Given the description of an element on the screen output the (x, y) to click on. 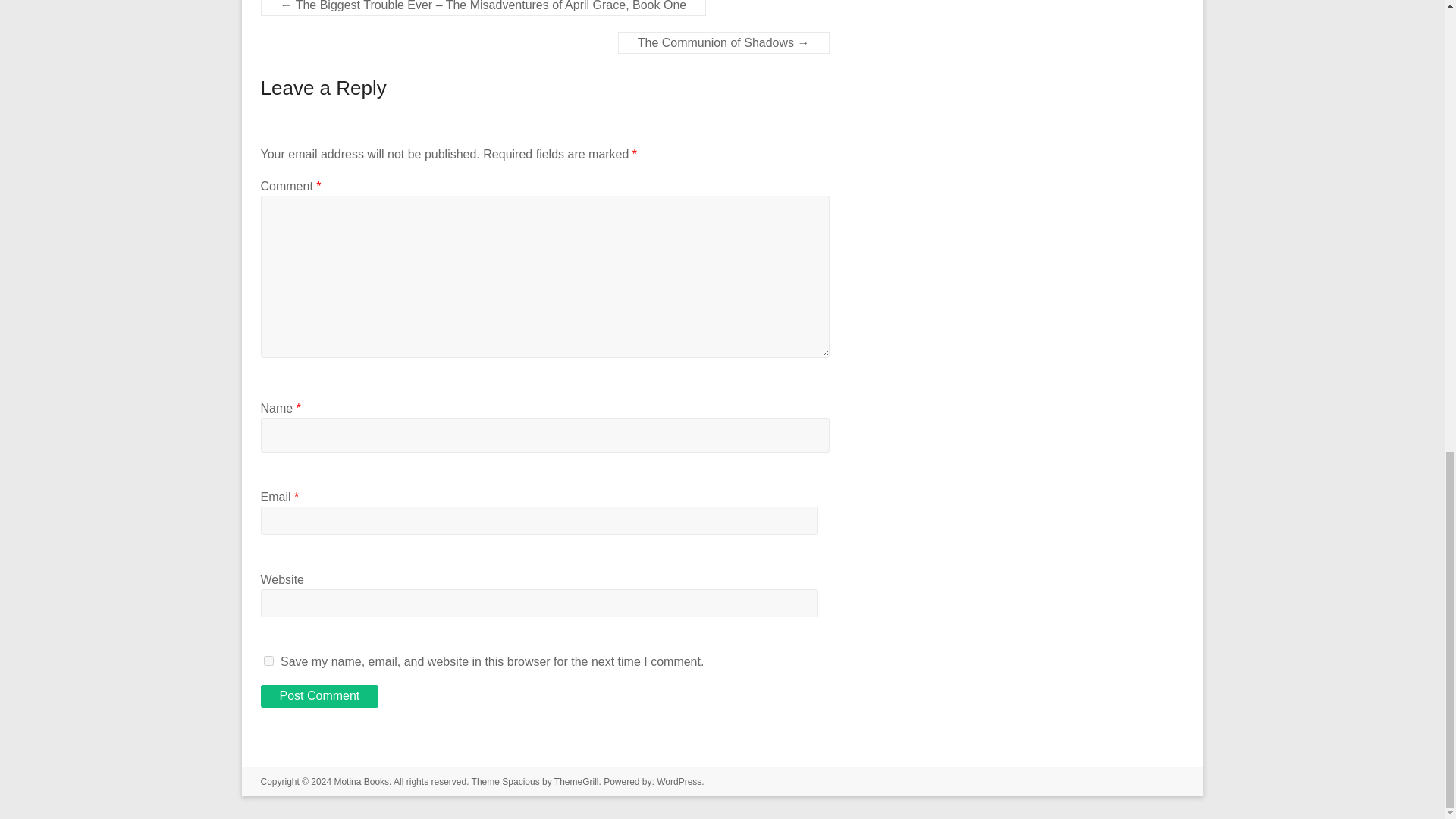
WordPress (678, 781)
Spacious (520, 781)
yes (268, 660)
Motina Books (360, 781)
Post Comment (319, 695)
